Given the description of an element on the screen output the (x, y) to click on. 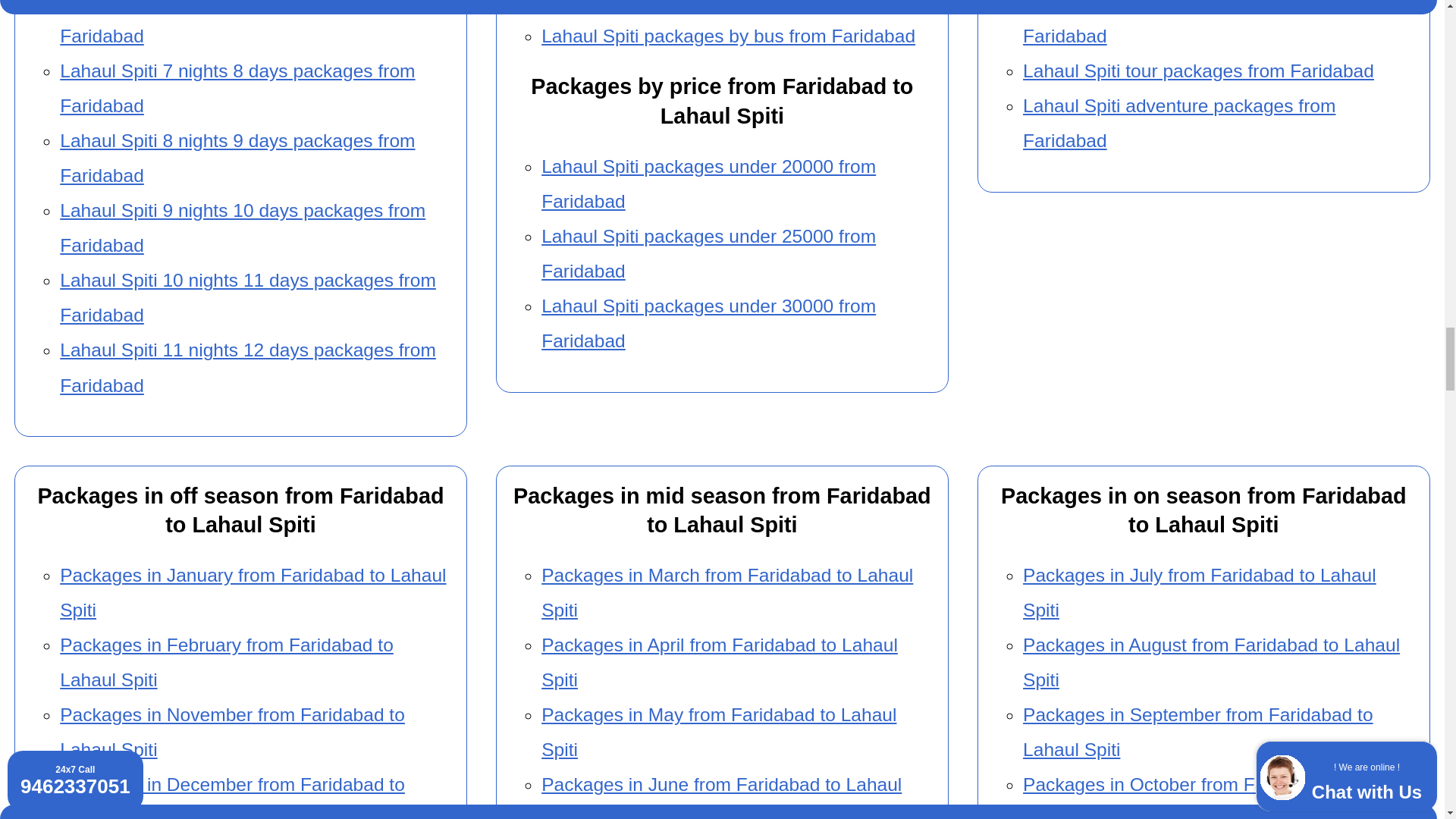
Lahaul Spiti packages under 20000 from Faridabad (708, 183)
Packages in May from Faridabad to Lahaul Spiti (718, 732)
Lahaul Spiti 11 nights 12 days packages from Faridabad (247, 366)
Packages in November from Faridabad to Lahaul Spiti (231, 732)
Packages in February from Faridabad to Lahaul Spiti (226, 662)
Packages in March from Faridabad to Lahaul Spiti (726, 592)
Lahaul Spiti packages under 25000 from Faridabad (708, 253)
Lahaul Spiti 7 nights 8 days packages from Faridabad (236, 88)
Lahaul Spiti tour packages from Faridabad (1198, 70)
Lahaul Spiti 10 nights 11 days packages from Faridabad (247, 297)
Lahaul Spiti packages by bus from Faridabad (728, 35)
Lahaul Spiti packages under 30000 from Faridabad (708, 323)
Lahaul Spiti honeymoon packages from Faridabad (1186, 22)
Packages in January from Faridabad to Lahaul Spiti (252, 592)
Lahaul Spiti 8 nights 9 days packages from Faridabad (236, 157)
